Given the description of an element on the screen output the (x, y) to click on. 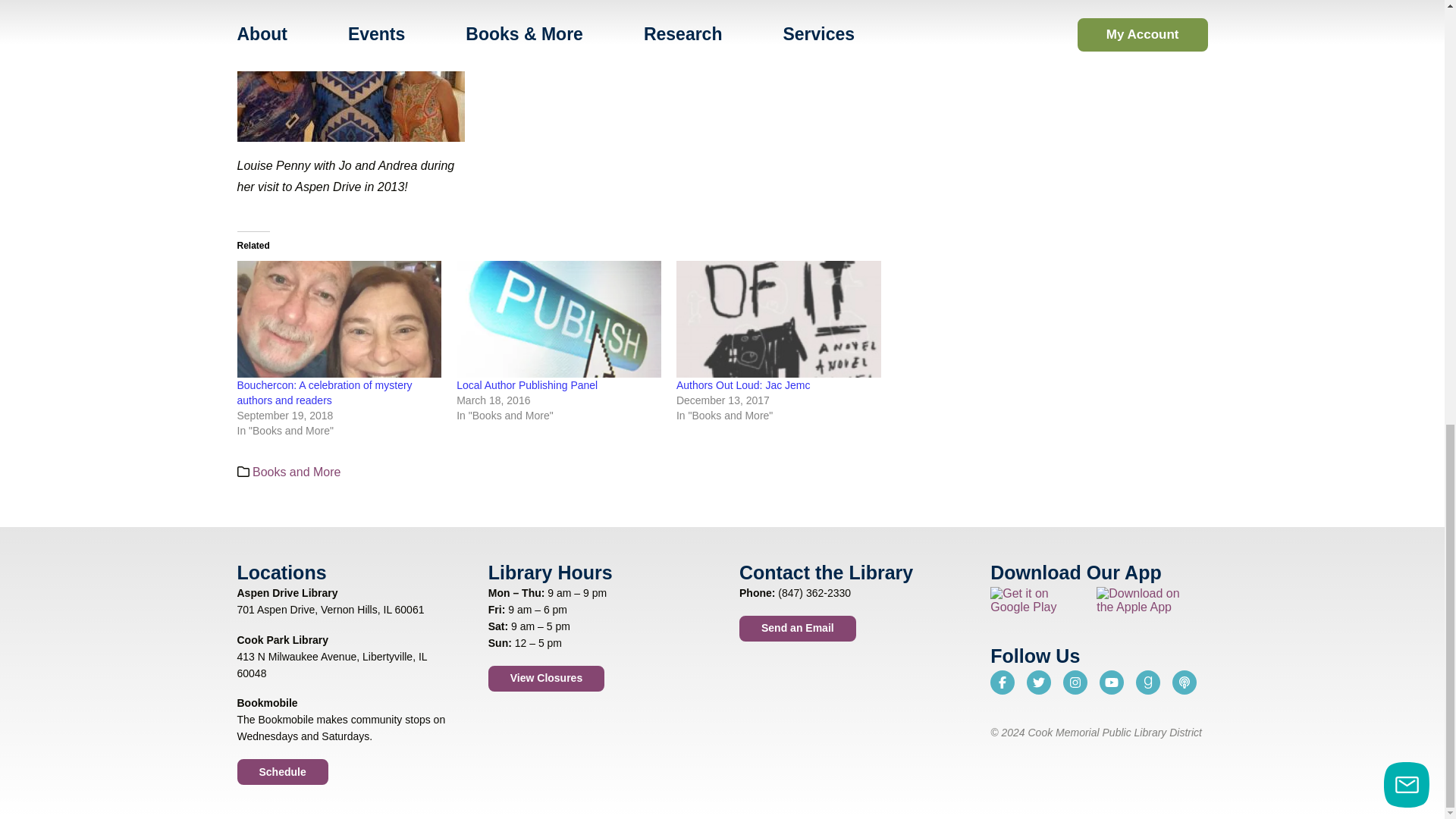
Bouchercon: A celebration of mystery authors and readers (323, 392)
Local Author Publishing Panel (526, 385)
Authors Out Loud: Jac Jemc (743, 385)
Local Author Publishing Panel (559, 319)
Bouchercon: A celebration of mystery authors and readers (338, 319)
Authors Out Loud: Jac Jemc (778, 319)
